Given the description of an element on the screen output the (x, y) to click on. 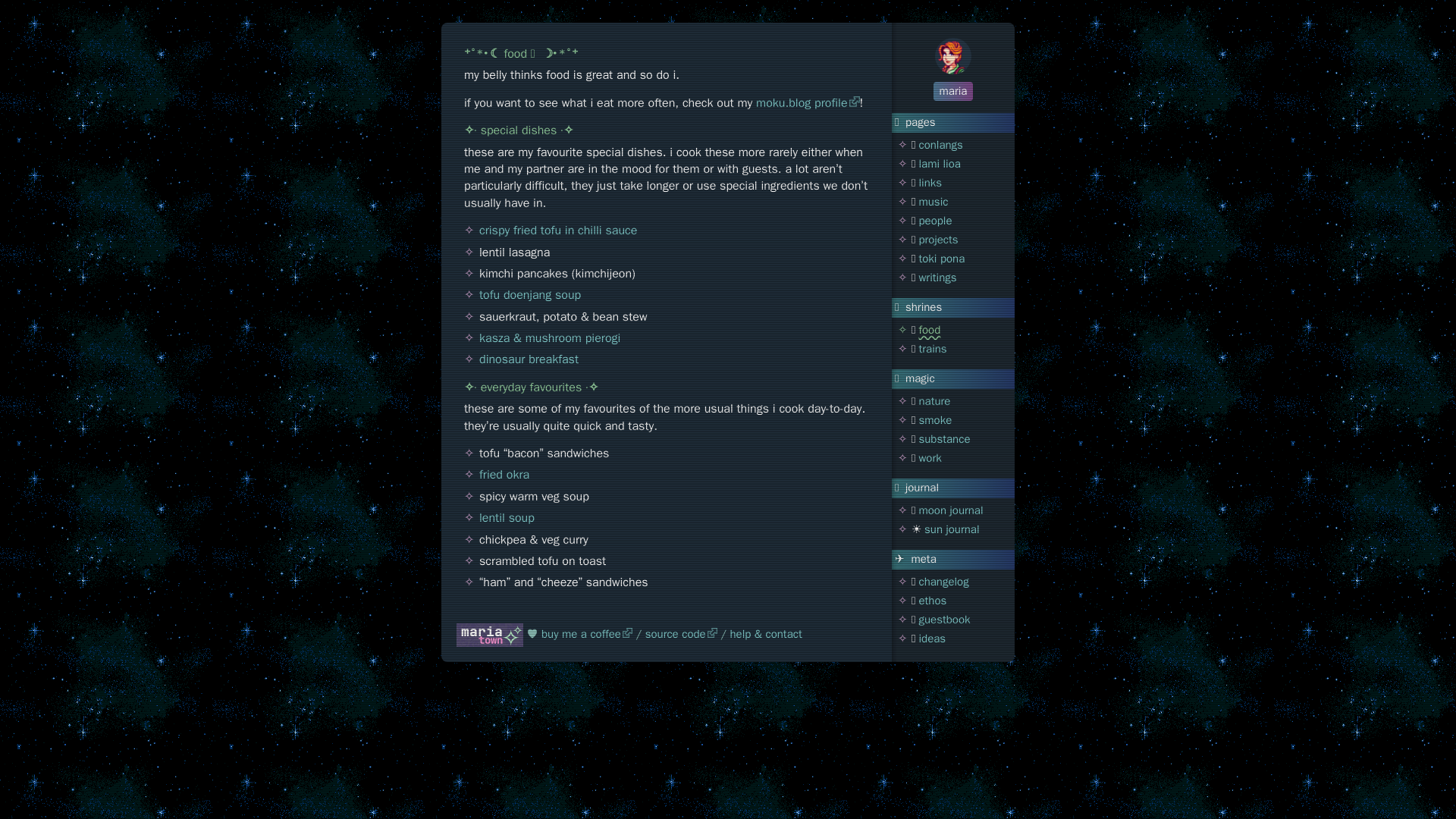
changelog (943, 581)
lami lioa (938, 163)
moon journal (950, 509)
moku.blog profile (807, 102)
work (929, 458)
trains (932, 348)
source code (681, 633)
links (930, 182)
tofu doenjang soup (529, 294)
ideas (931, 638)
smoke (935, 419)
projects (938, 239)
lentil soup (506, 517)
food (929, 329)
substance (943, 438)
